Given the description of an element on the screen output the (x, y) to click on. 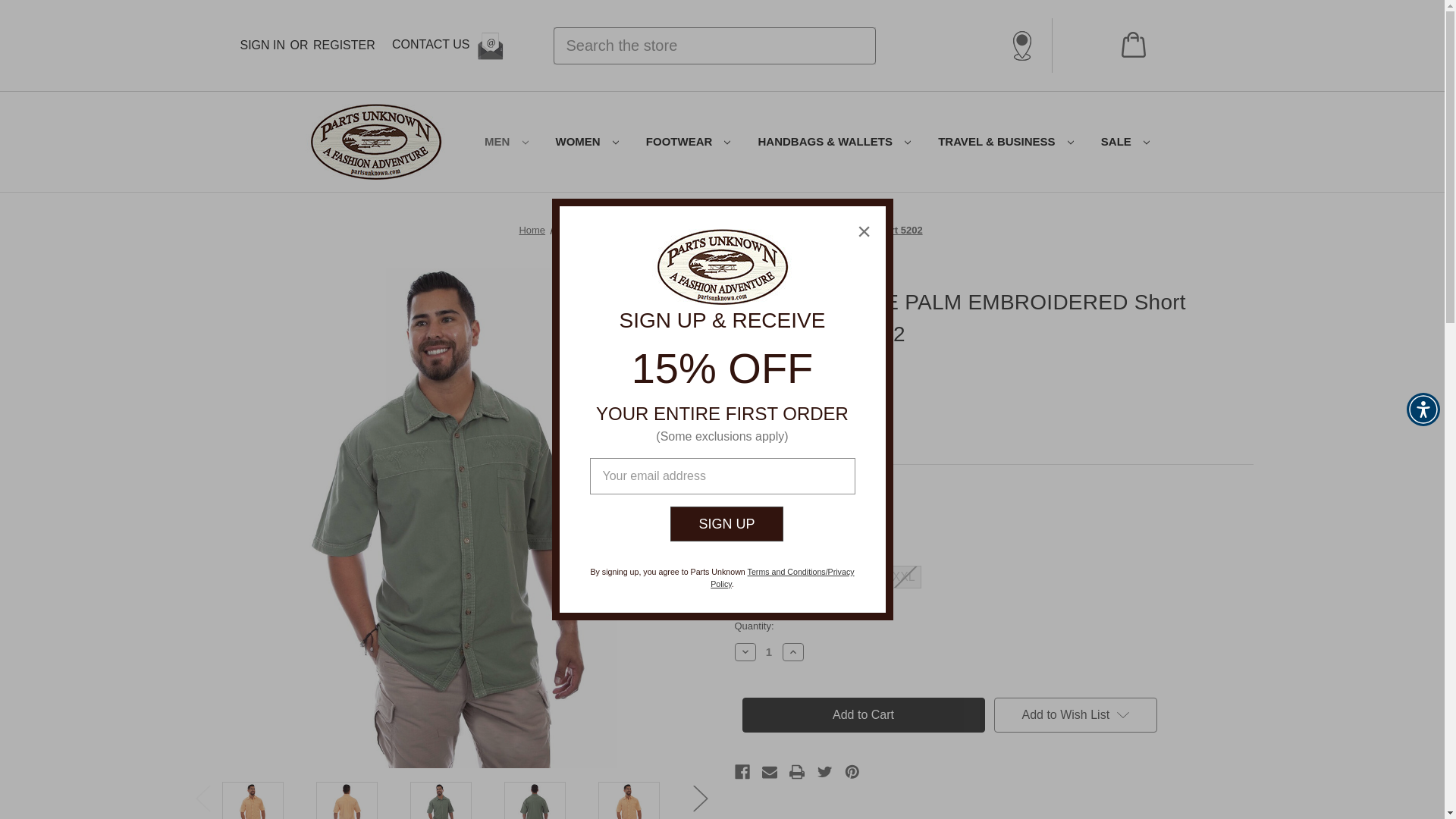
1 (768, 651)
MEN (505, 141)
Sign Up (726, 523)
Facebook (741, 771)
SHORT SLEEVE PALM EMBROIDERED Short Sleeve Shirt 5202 (628, 801)
Parts Unknown (375, 141)
SHORT SLEEVE PALM EMBROIDERED Short Sleeve Shirt 5202 (534, 801)
WOMEN (586, 141)
SHORT SLEEVE PALM EMBROIDERED Short Sleeve Shirt 5202 (251, 801)
